Given the description of an element on the screen output the (x, y) to click on. 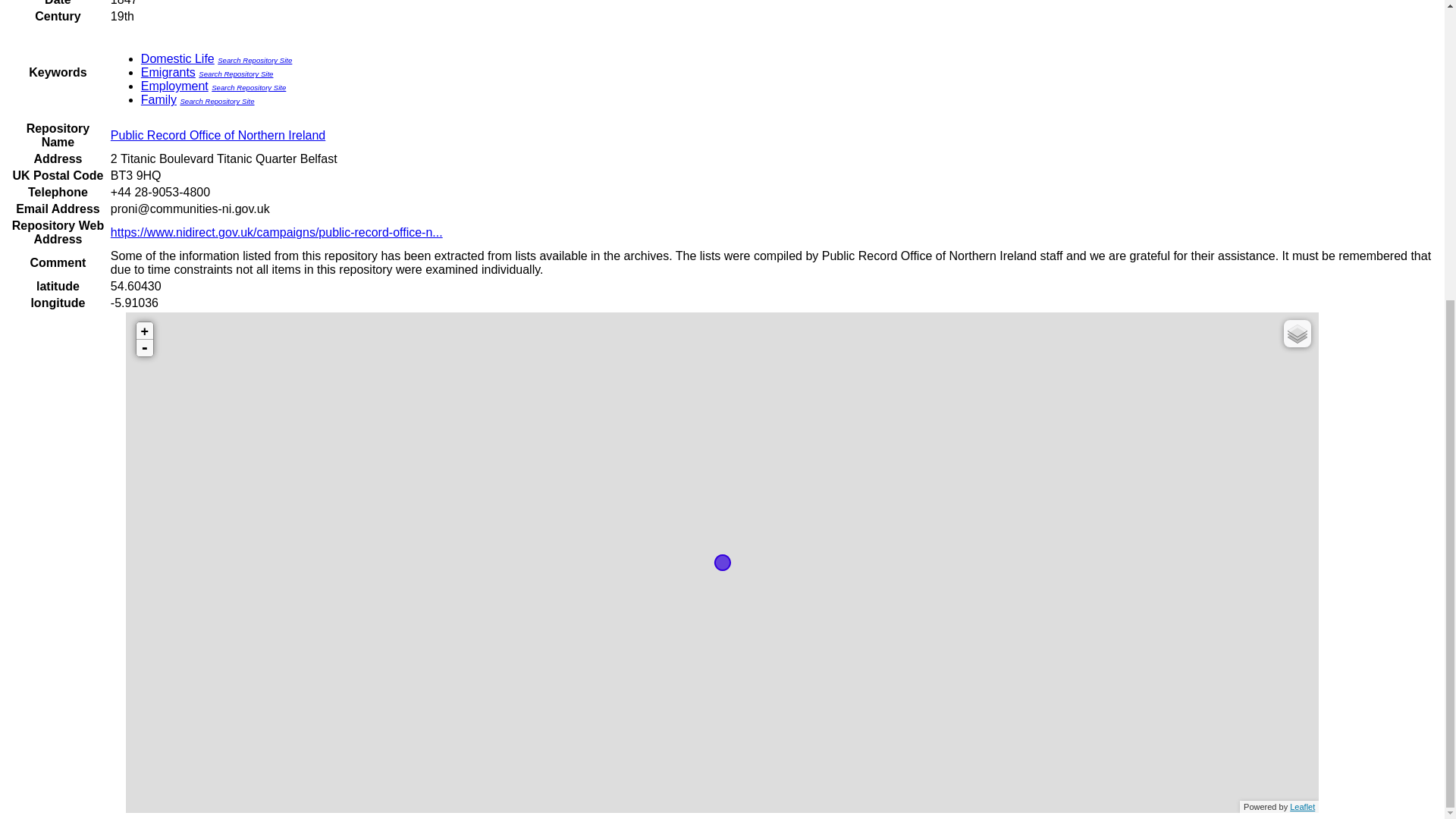
Zoom in (144, 330)
Public Record Office of Northern Ireland (217, 134)
- (144, 347)
Layers (1297, 333)
Leaflet (1302, 806)
Search Repository Site (216, 101)
Employment (174, 85)
Zoom out (144, 347)
Search Repository Site (235, 73)
Domestic Life (177, 58)
